Given the description of an element on the screen output the (x, y) to click on. 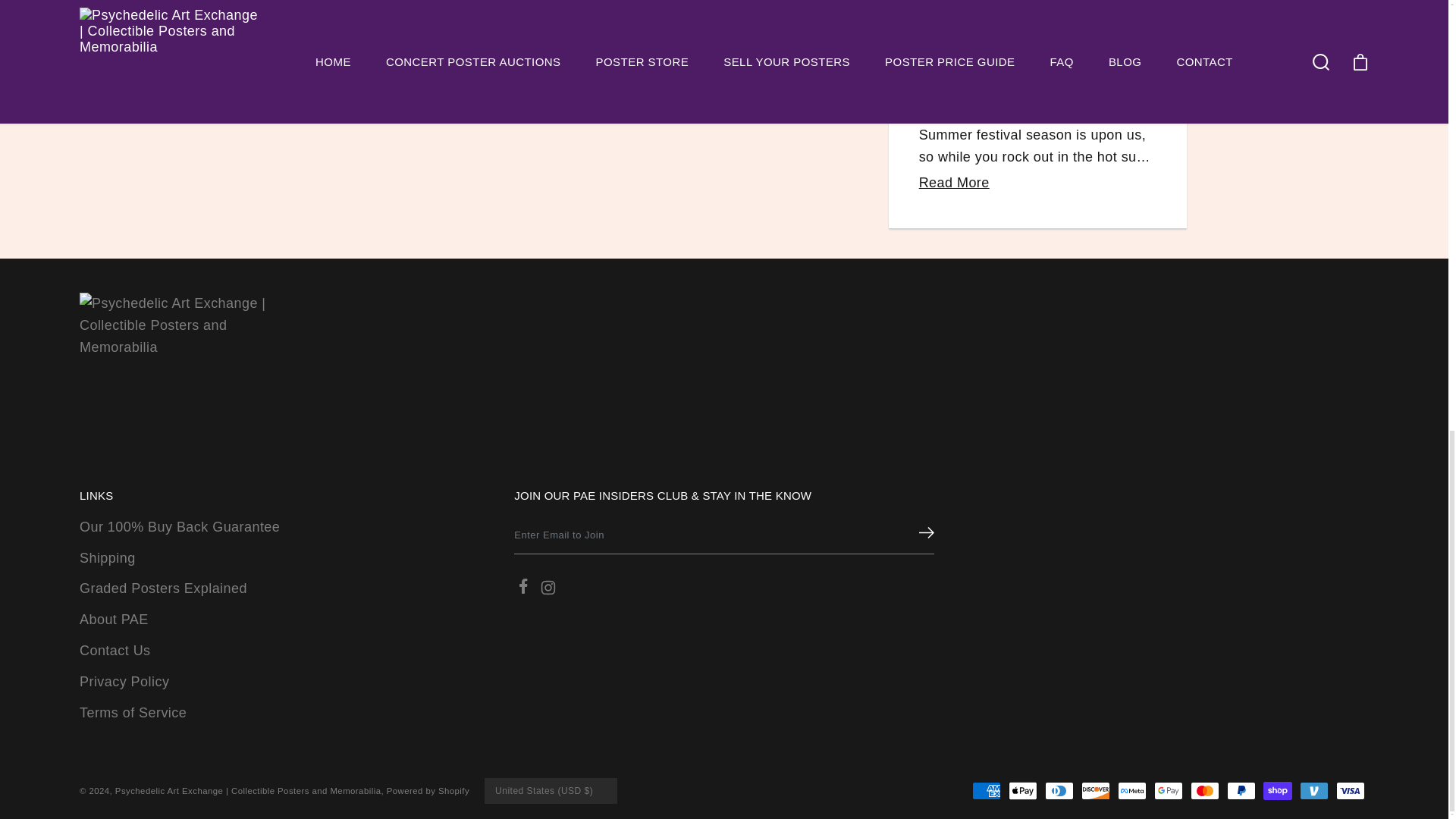
PayPal (1241, 791)
Visa (1350, 791)
Diners Club (1059, 791)
American Express (986, 791)
Shipping (107, 558)
24 Jun 2024 (1037, 35)
Venmo (1313, 791)
Read More (954, 182)
Mastercard (1205, 791)
Discover (1095, 791)
